Given the description of an element on the screen output the (x, y) to click on. 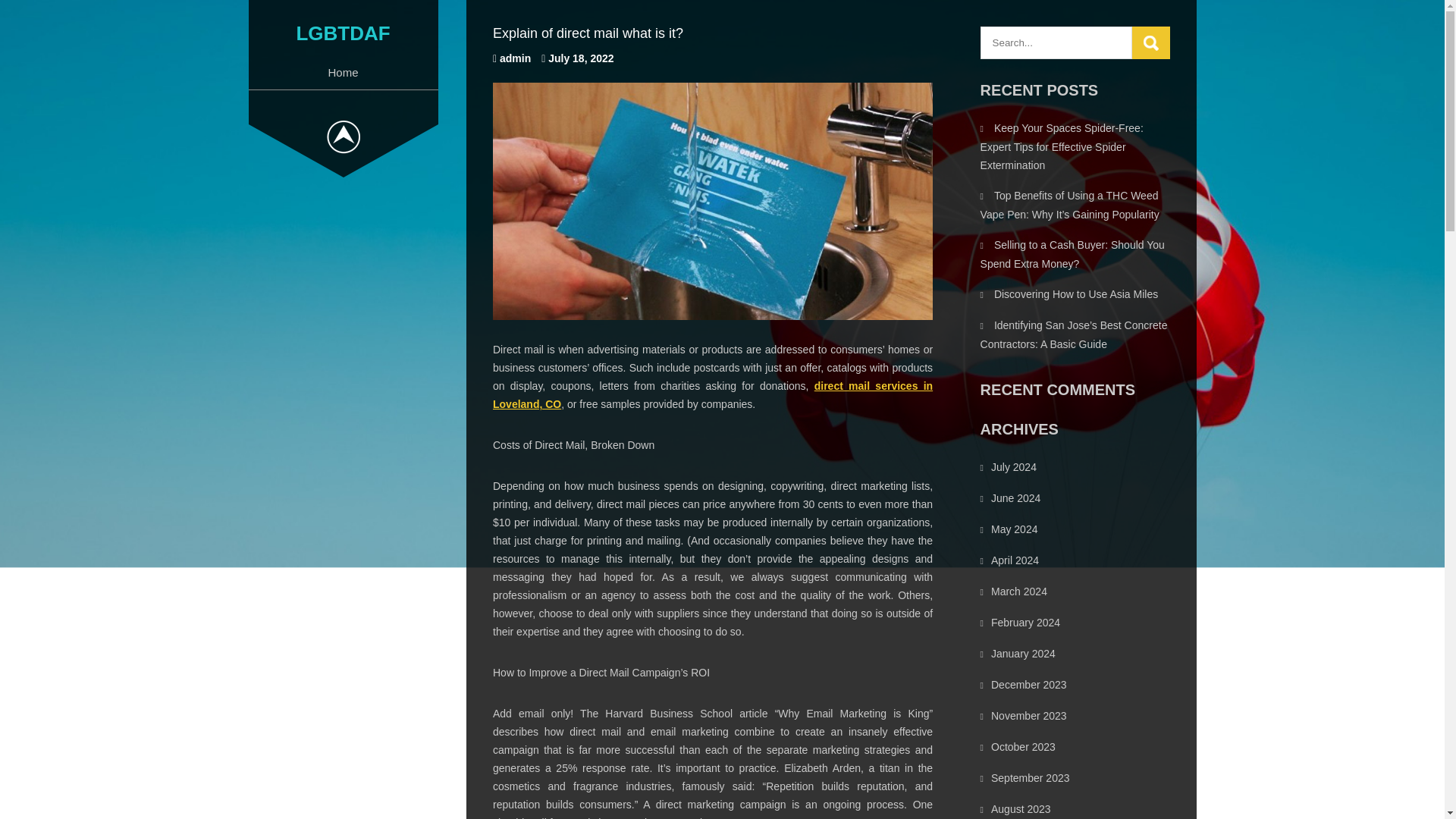
Search (1151, 42)
April 2024 (1015, 560)
LGBTDAF (342, 33)
Discovering How to Use Asia Miles (1075, 294)
July 2024 (1013, 467)
Search (1151, 42)
Search (1151, 42)
May 2024 (1013, 529)
Selling to a Cash Buyer: Should You Spend Extra Money? (1071, 254)
December 2023 (1029, 684)
June 2024 (1016, 498)
August 2023 (1021, 808)
November 2023 (1029, 715)
October 2023 (1023, 746)
